Given the description of an element on the screen output the (x, y) to click on. 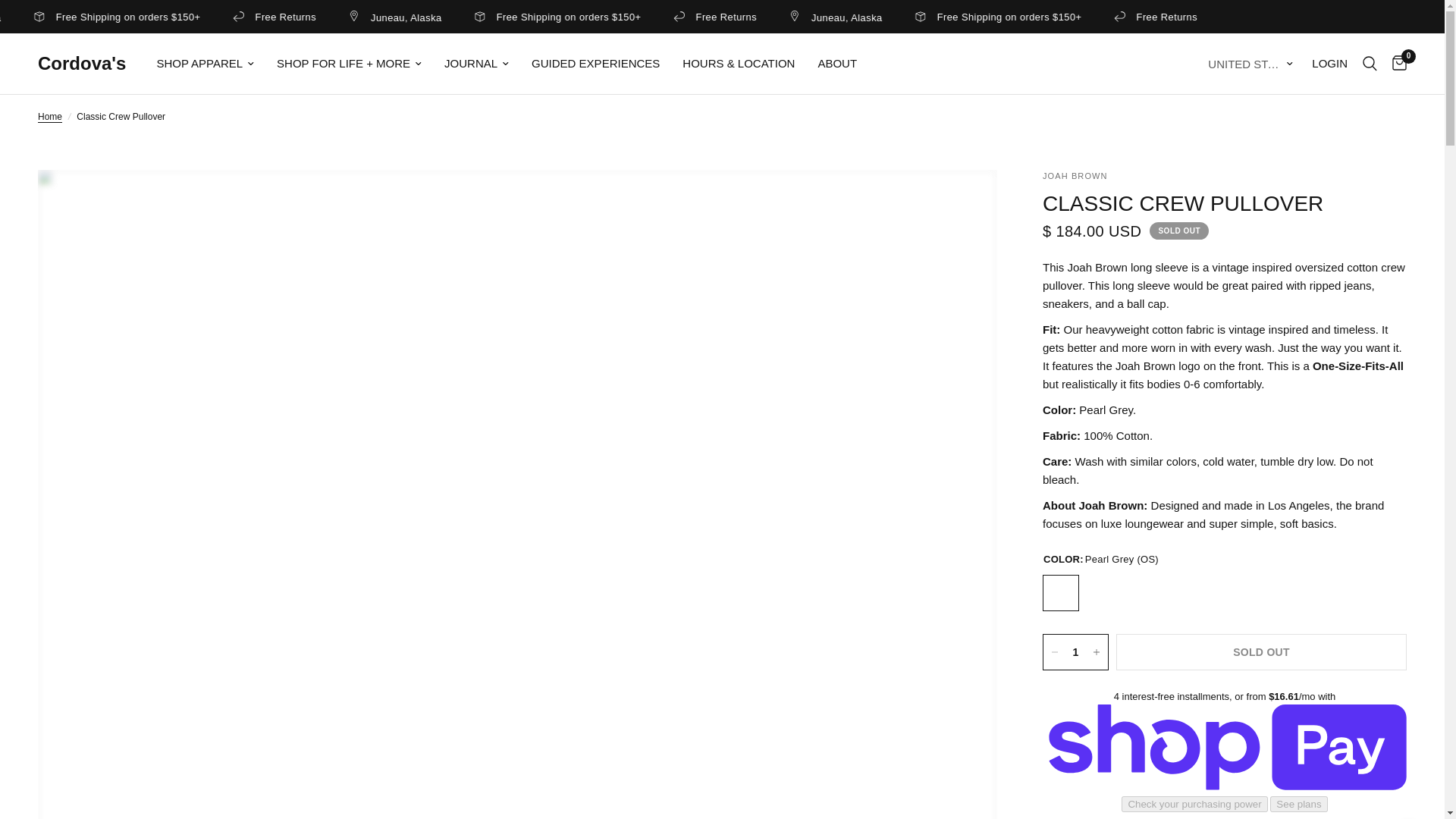
Juneau, Alaska (977, 16)
Juneau, Alaska (537, 16)
Juneau, Alaska (97, 16)
